Given the description of an element on the screen output the (x, y) to click on. 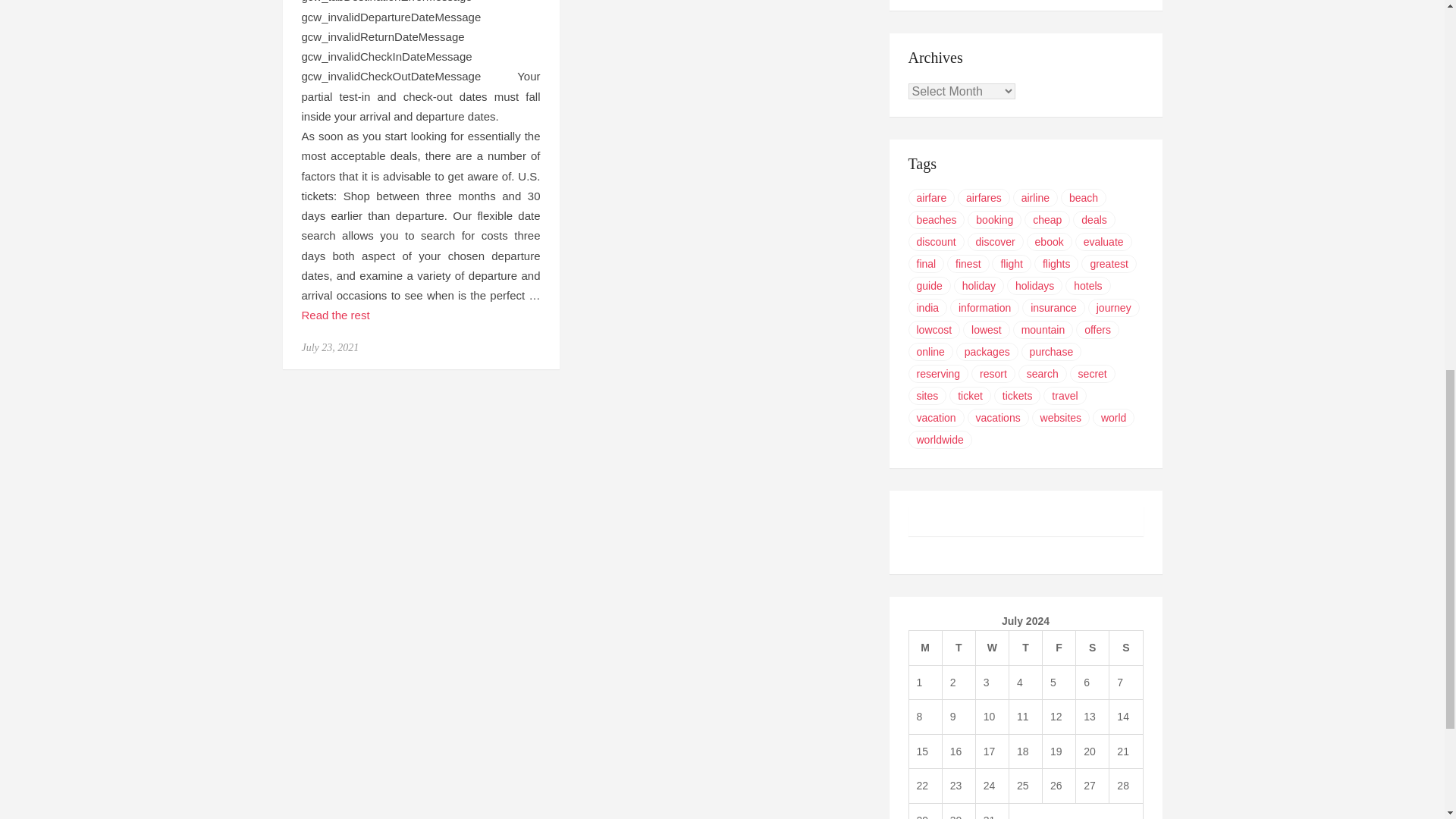
July 23, 2021 (330, 347)
Sunday (1125, 647)
Tuesday (958, 647)
Friday (1058, 647)
Thursday (1025, 647)
Read the rest (335, 315)
Wednesday (992, 647)
Monday (925, 647)
Saturday (1092, 647)
